Given the description of an element on the screen output the (x, y) to click on. 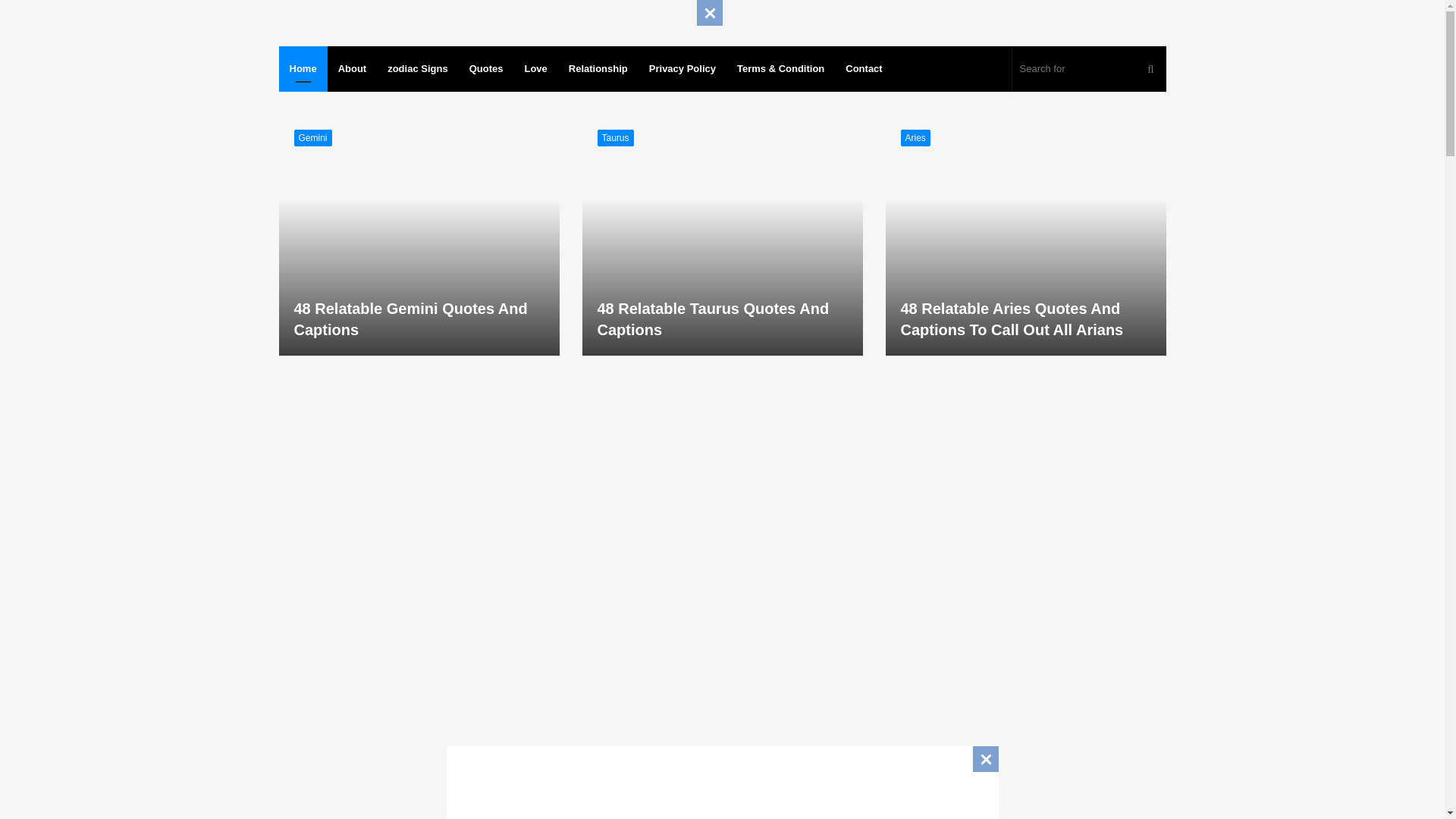
Contact (863, 68)
Home (303, 68)
Gemini (312, 137)
Taurus (614, 137)
About (352, 68)
Privacy Policy (682, 68)
48 Relatable Gemini Quotes And Captions (410, 319)
Search for (1088, 68)
48 Relatable Taurus Quotes And Captions (712, 319)
Advertisement (721, 780)
Love (535, 68)
zodiac Signs (417, 68)
Relationship (598, 68)
Quotes (485, 68)
